Given the description of an element on the screen output the (x, y) to click on. 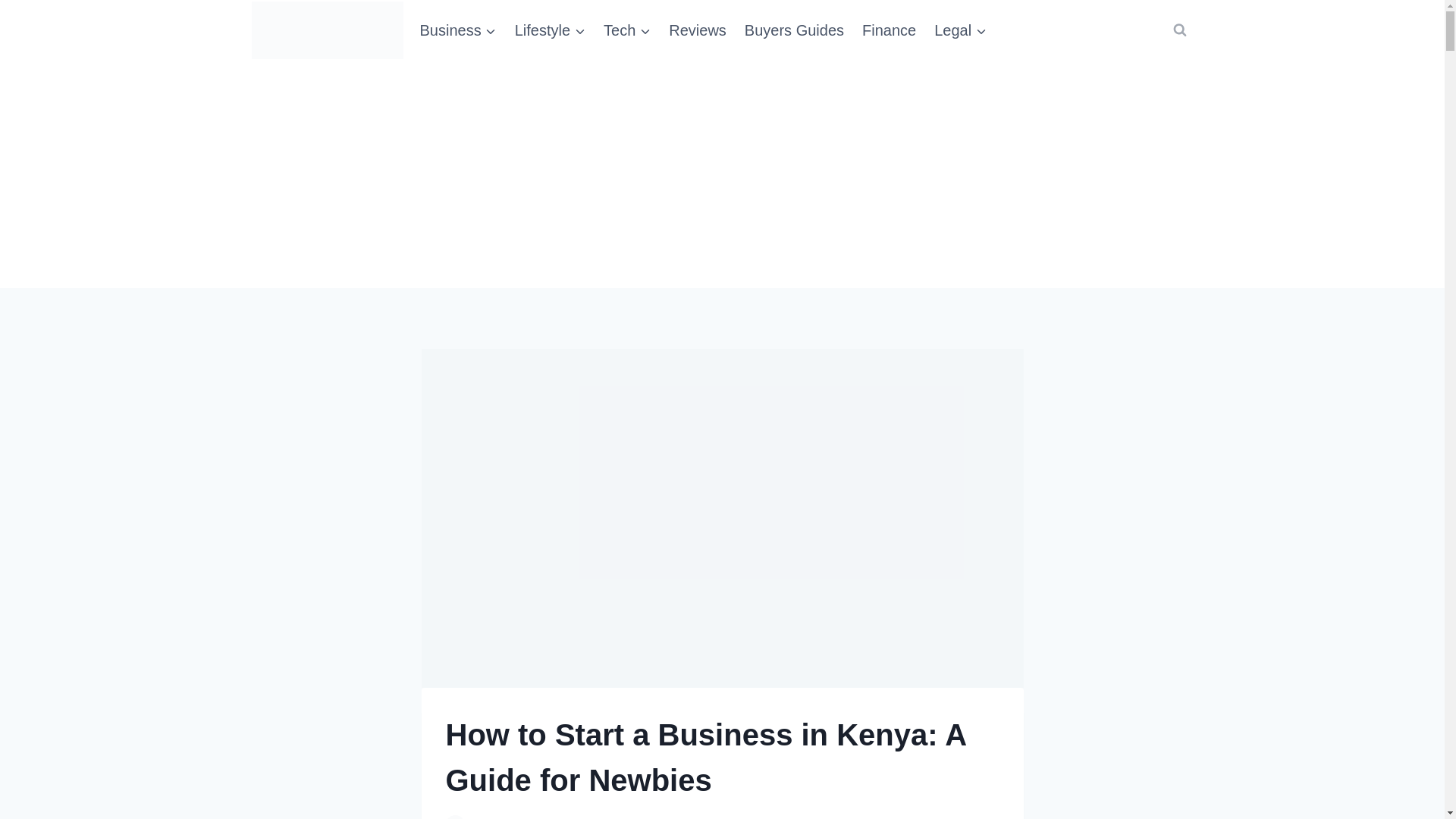
Business (457, 30)
Legal (959, 30)
Reviews (697, 30)
Finance (888, 30)
Lifestyle (549, 30)
Tech (626, 30)
Buyers Guides (794, 30)
